Given the description of an element on the screen output the (x, y) to click on. 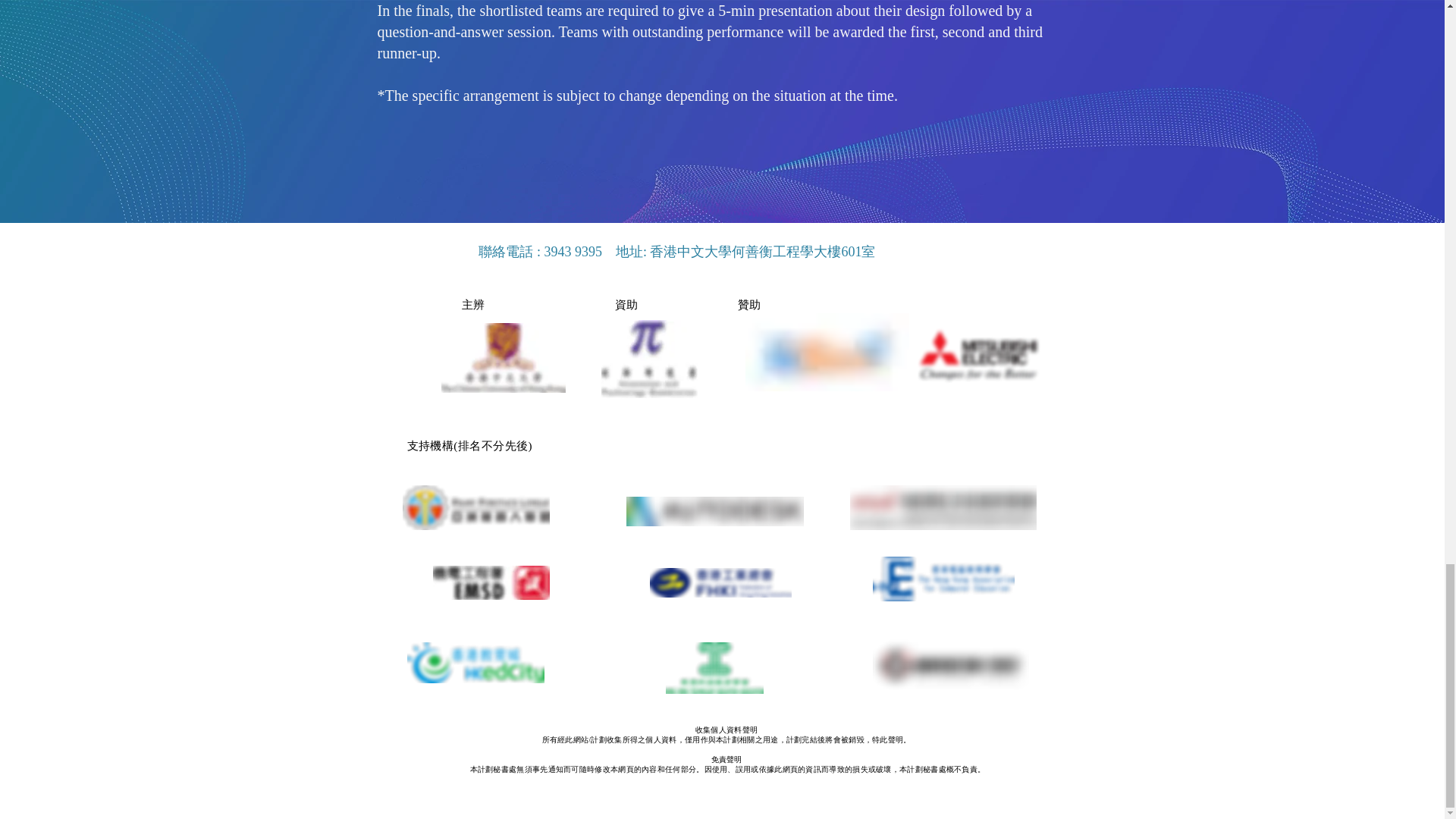
HKEdCity logo.png (474, 662)
4.EMSD logo.jpg (490, 582)
9.IFI-Logo.png (949, 664)
